Given the description of an element on the screen output the (x, y) to click on. 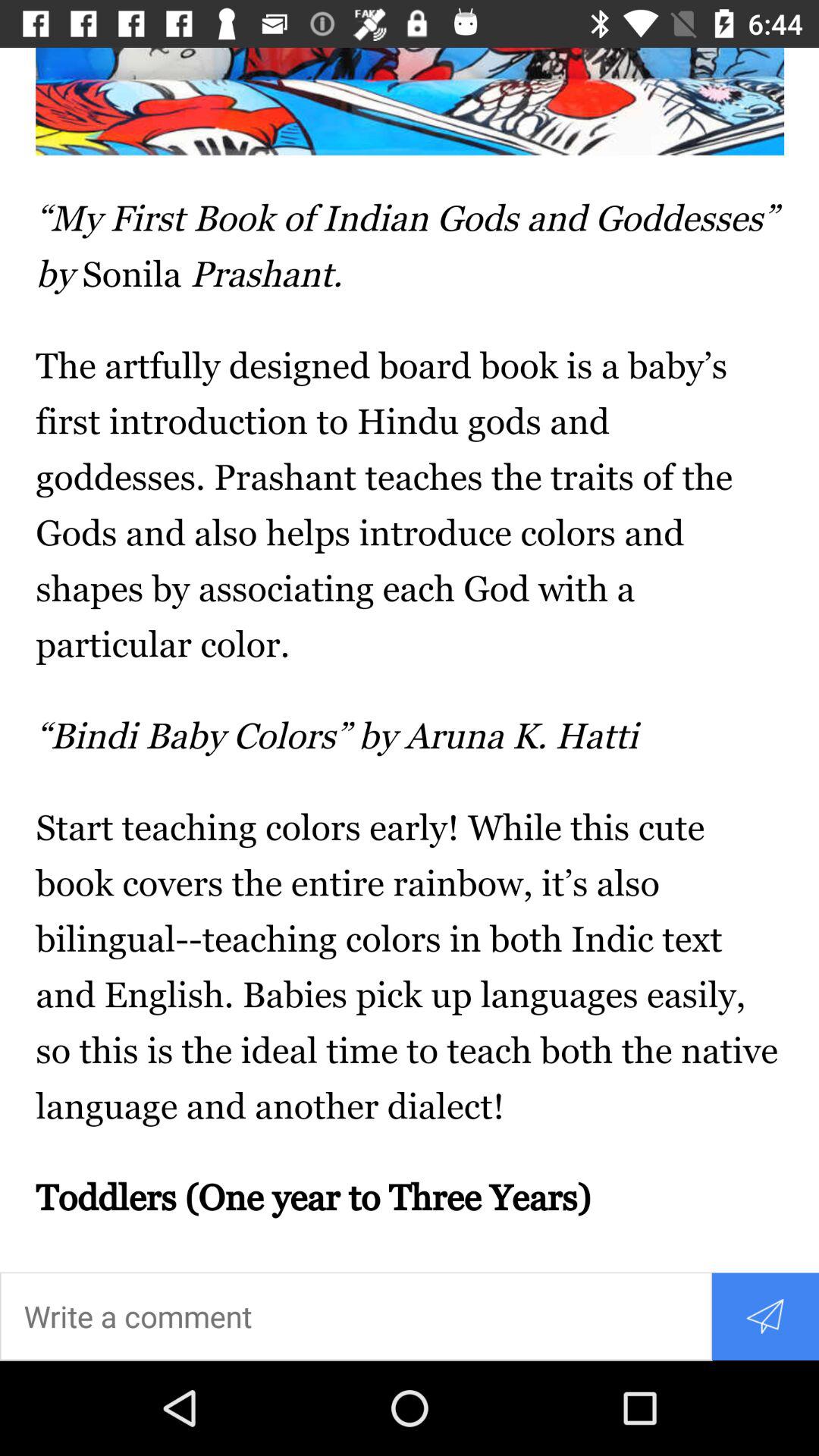
send comment (764, 1316)
